Given the description of an element on the screen output the (x, y) to click on. 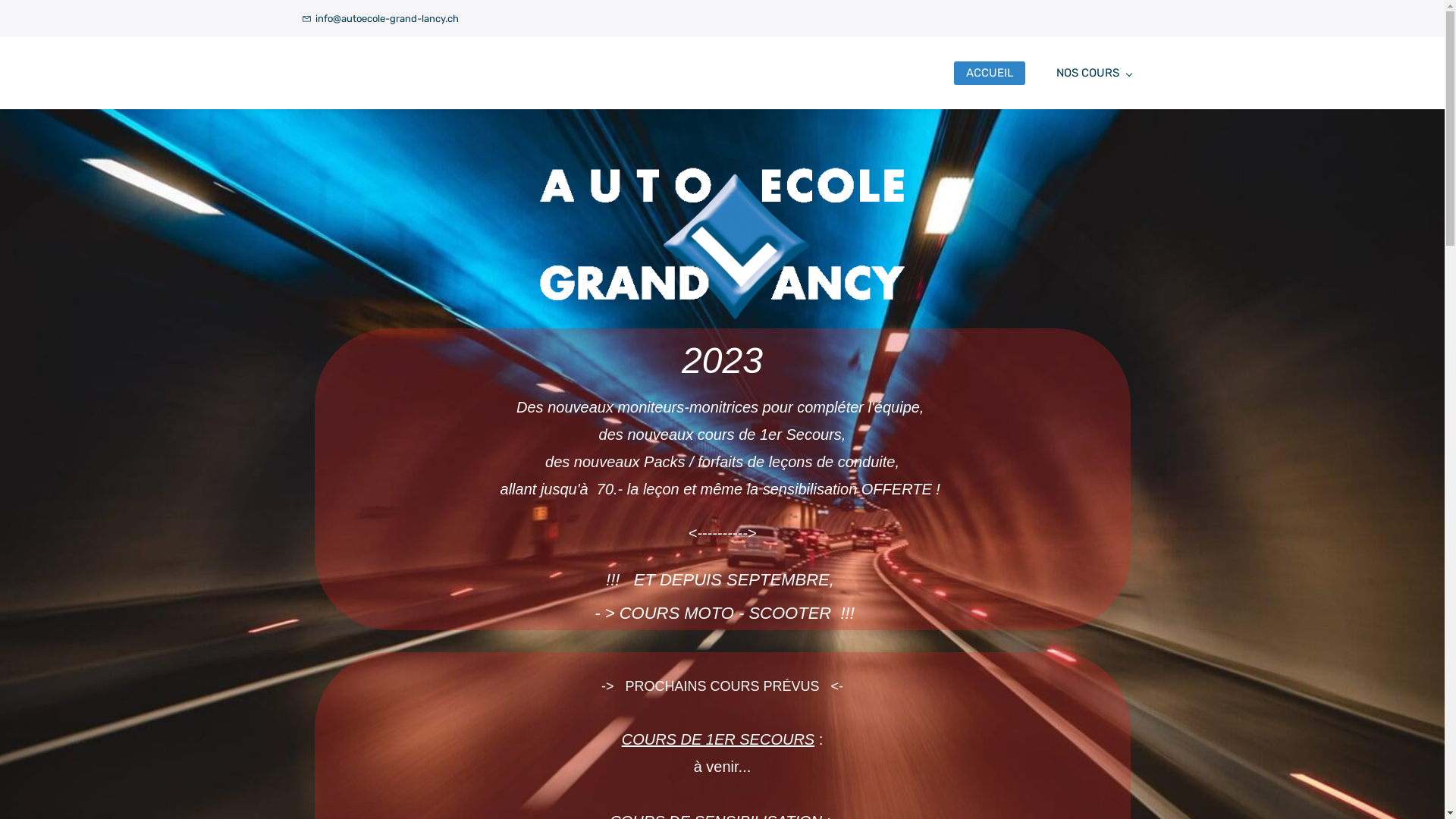
NOS COURS Element type: text (1092, 72)
info@autoecole-grand-lancy.ch Element type: text (379, 18)
ACCUEIL Element type: text (989, 72)
